Given the description of an element on the screen output the (x, y) to click on. 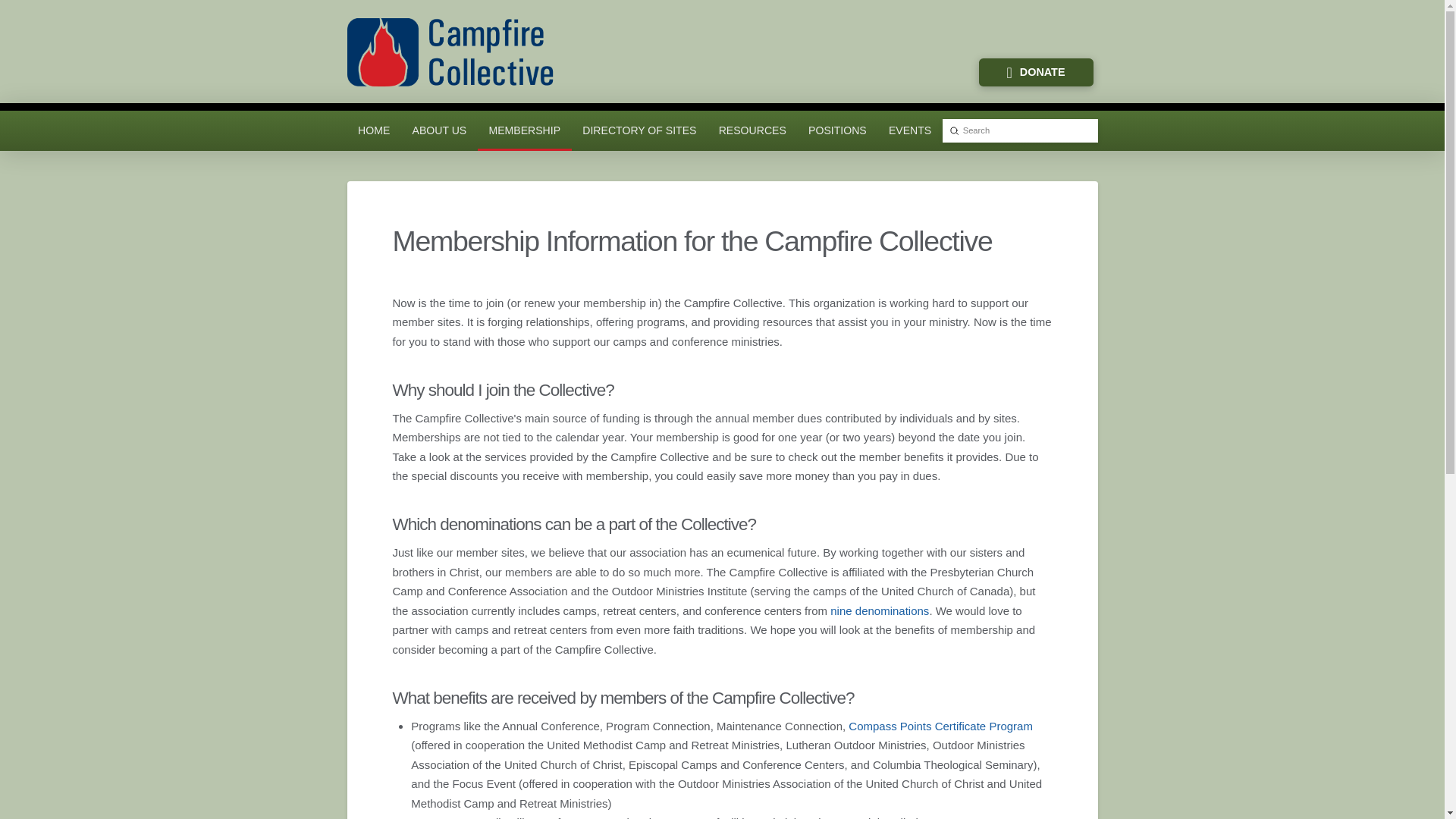
ABOUT US (439, 130)
DIRECTORY OF SITES (639, 130)
Compass Points Certificate Program (940, 725)
DONATE (1035, 71)
RESOURCES (751, 130)
HOME (374, 130)
POSITIONS (836, 130)
EVENTS (909, 130)
MEMBERSHIP (524, 130)
nine denominations (878, 610)
Submit (954, 130)
